Given the description of an element on the screen output the (x, y) to click on. 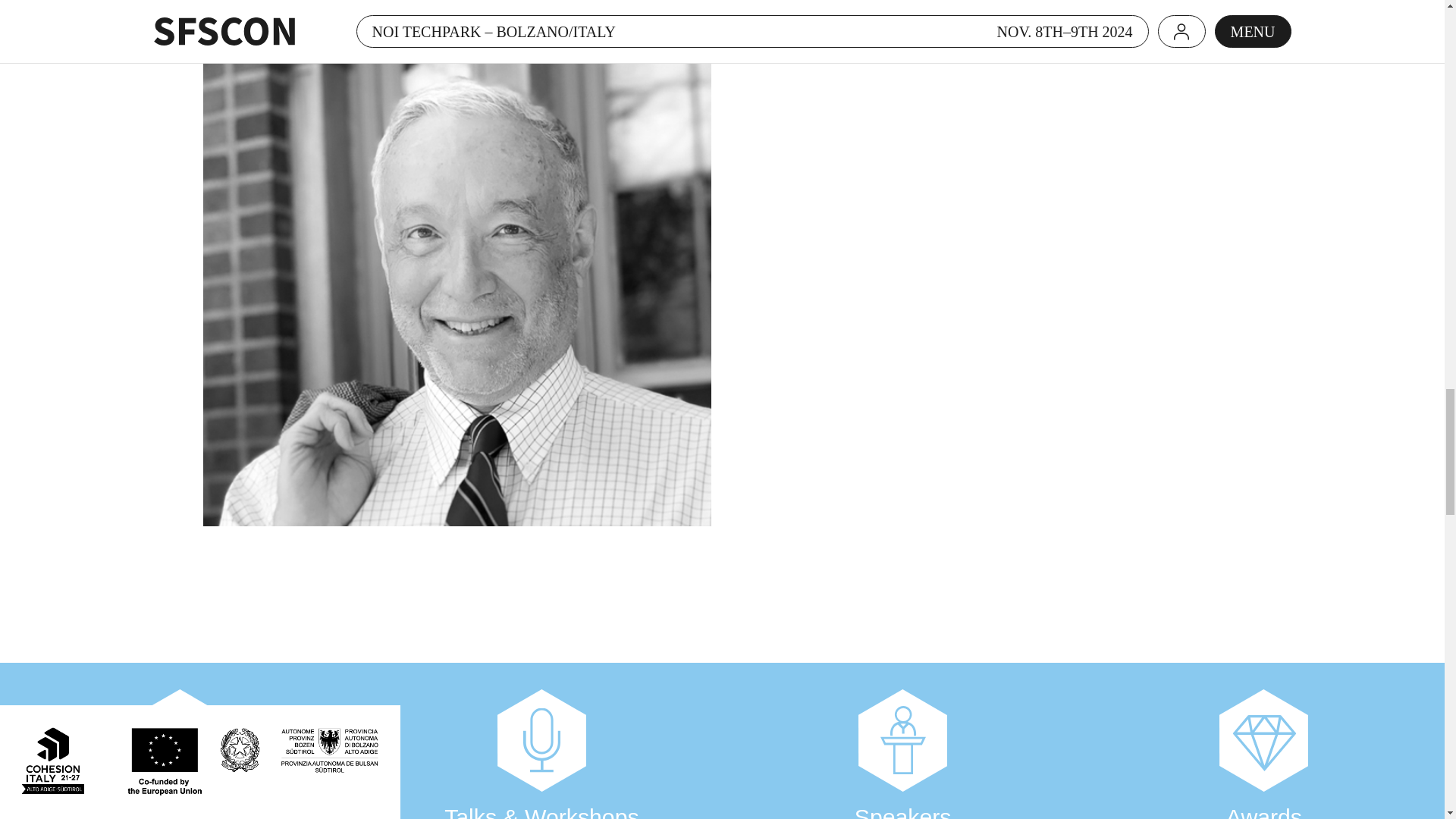
Speakers (902, 740)
Past editions (180, 740)
